Given the description of an element on the screen output the (x, y) to click on. 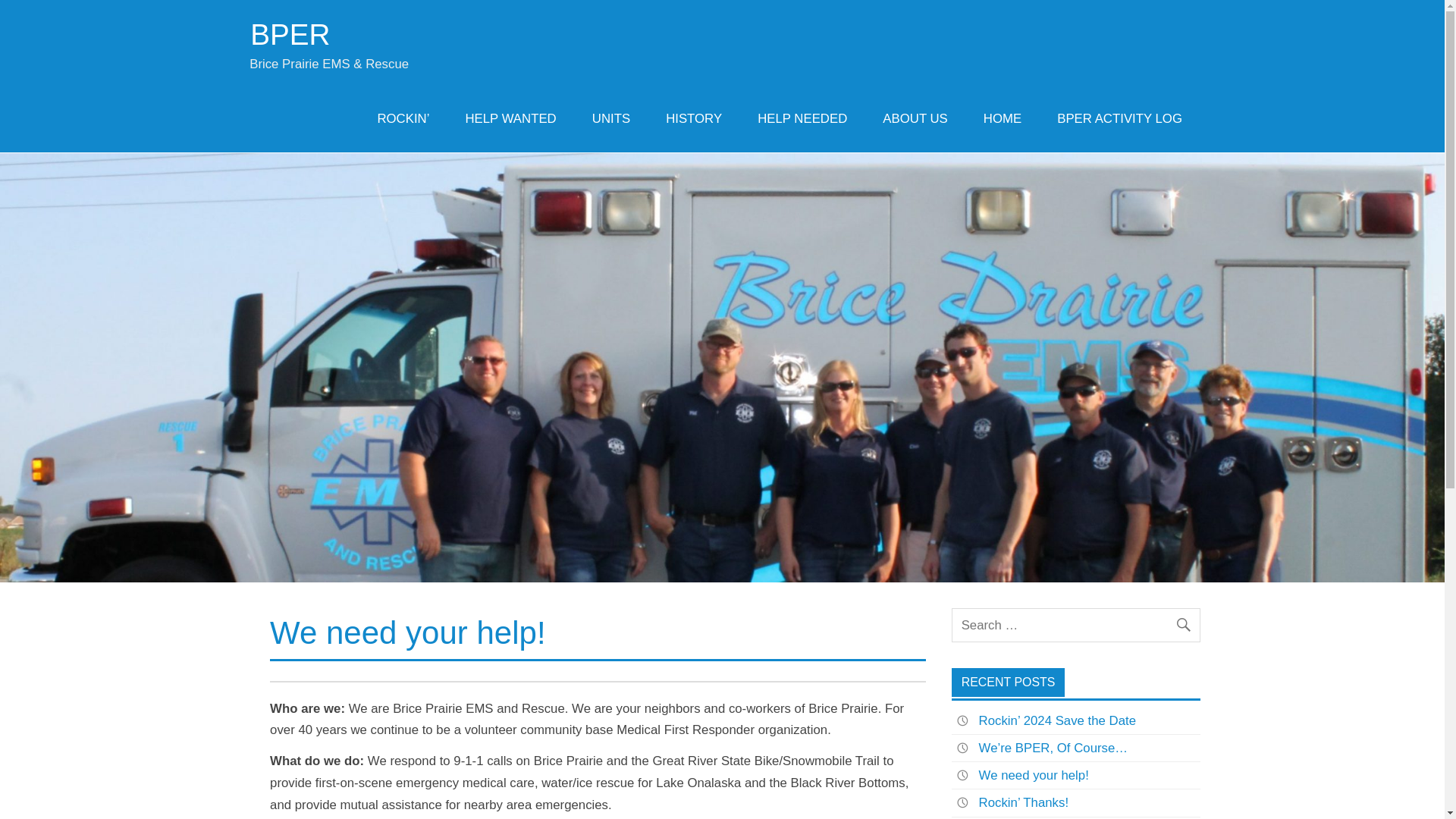
BPER (290, 34)
We need your help! (1033, 775)
ABOUT US (915, 119)
HELP WANTED (509, 119)
UNITS (610, 119)
HOME (1002, 119)
BPER ACTIVITY LOG (1119, 119)
HELP NEEDED (801, 119)
HISTORY (693, 119)
